Given the description of an element on the screen output the (x, y) to click on. 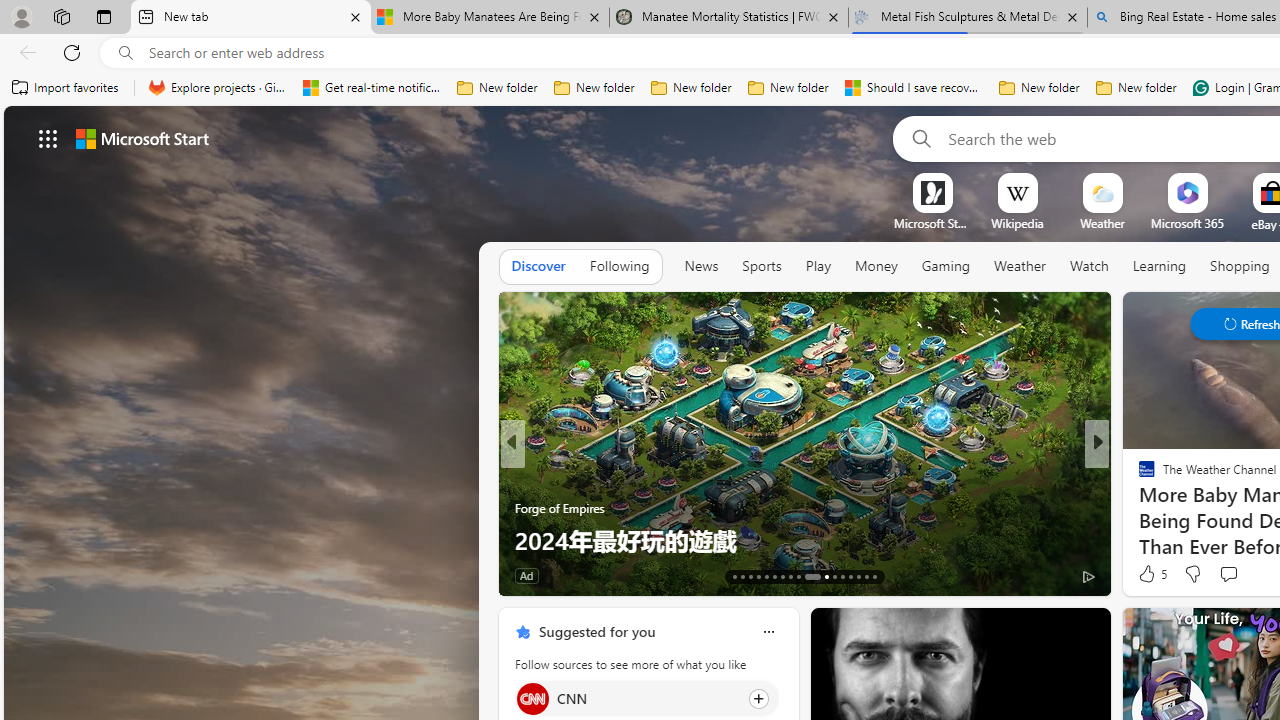
Start the conversation (1227, 574)
View comments 19 Comment (1234, 575)
Microsoft start (142, 138)
View comments 6 Comment (1241, 574)
Money (876, 267)
151 Like (1151, 574)
ETNT Mind+Body (1138, 475)
AutomationID: tab-25 (842, 576)
Sports (761, 267)
Search icon (125, 53)
Discover (538, 265)
